Given the description of an element on the screen output the (x, y) to click on. 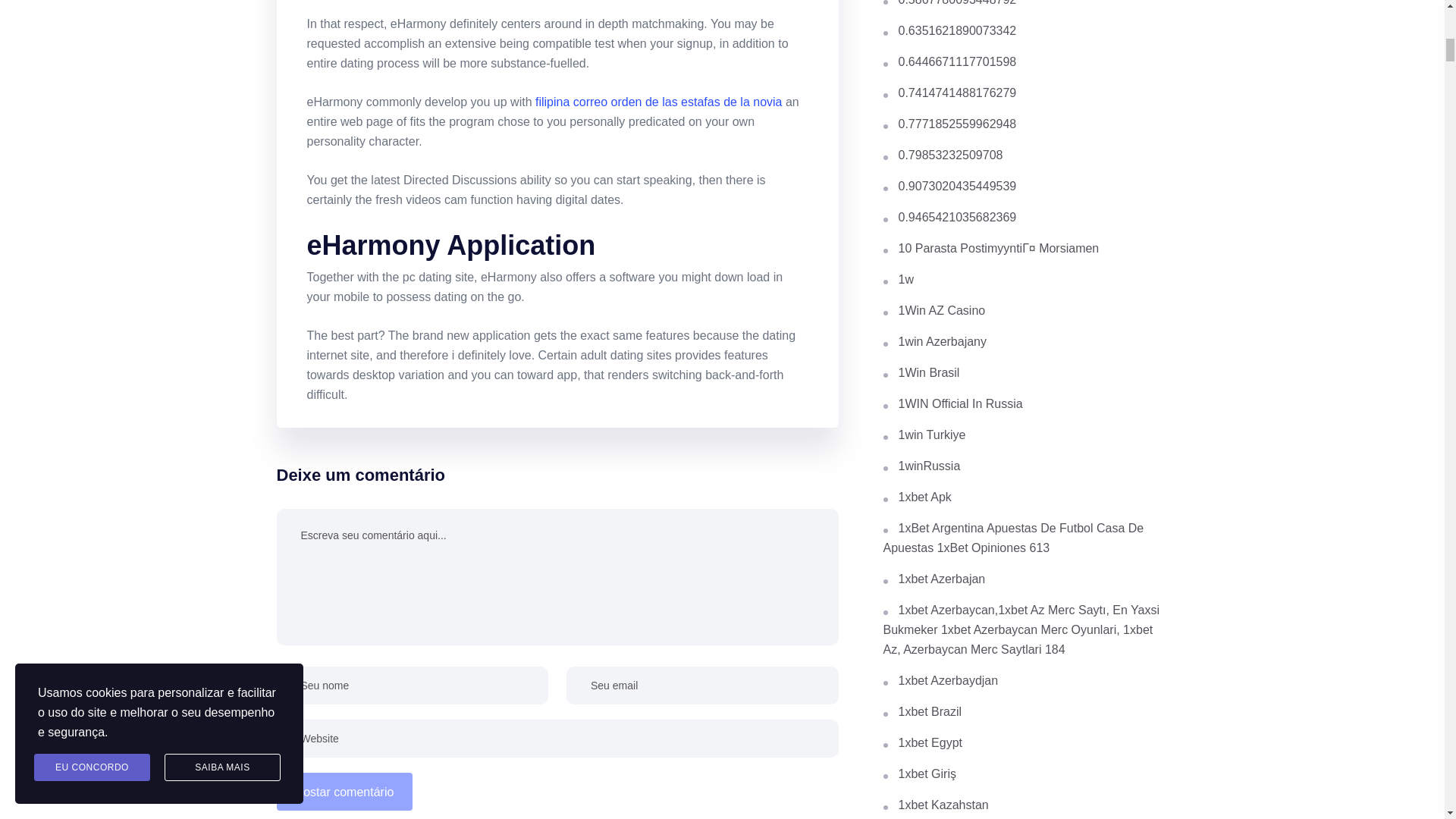
filipina correo orden de las estafas de la novia (659, 101)
